Given the description of an element on the screen output the (x, y) to click on. 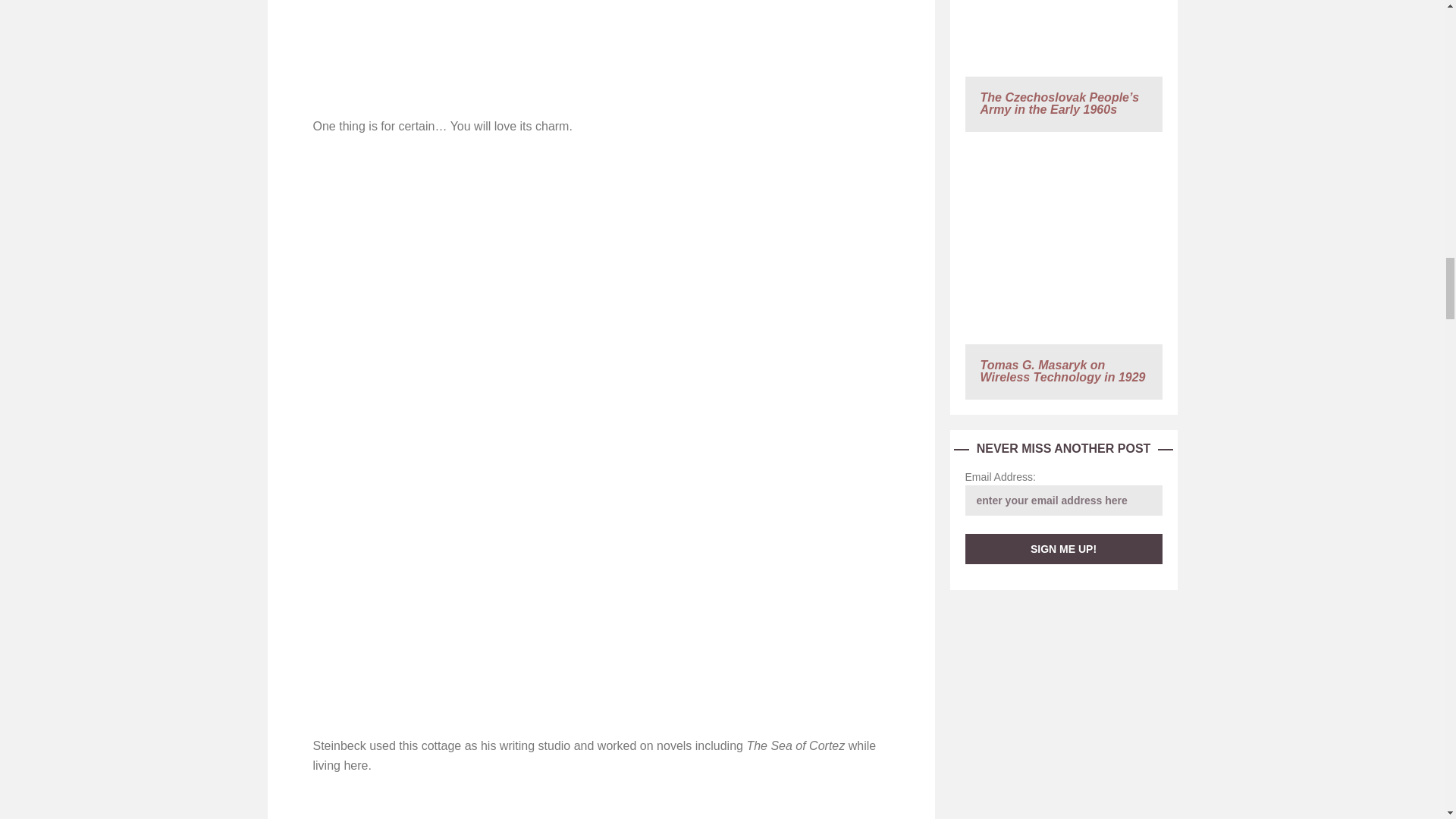
SIGN ME UP! (1062, 548)
